Given the description of an element on the screen output the (x, y) to click on. 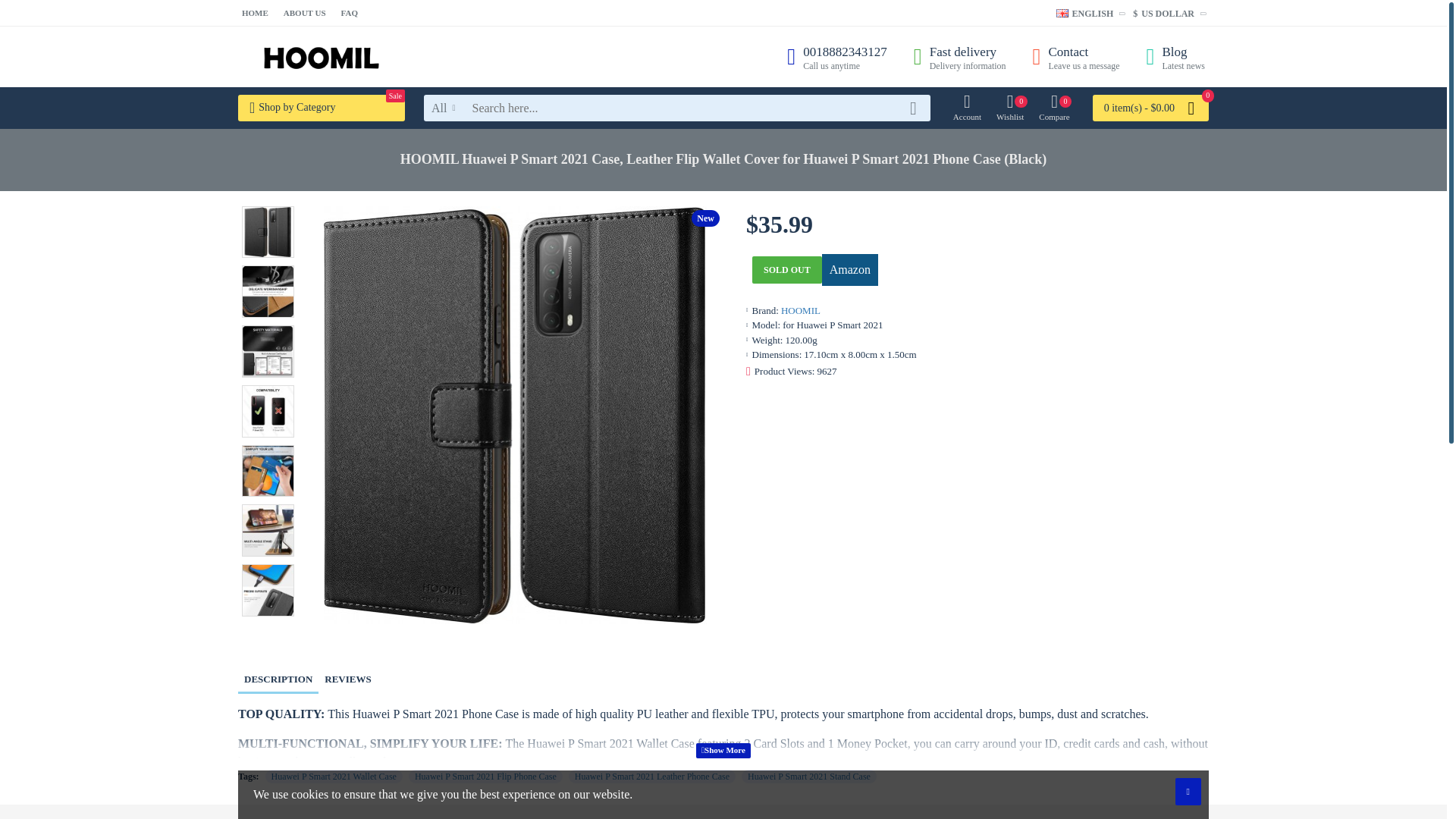
FAQ (349, 13)
ABOUT US (304, 13)
HOME (830, 56)
HOOMIL Inc  (255, 13)
English (1070, 56)
ENGLISH (321, 56)
